Given the description of an element on the screen output the (x, y) to click on. 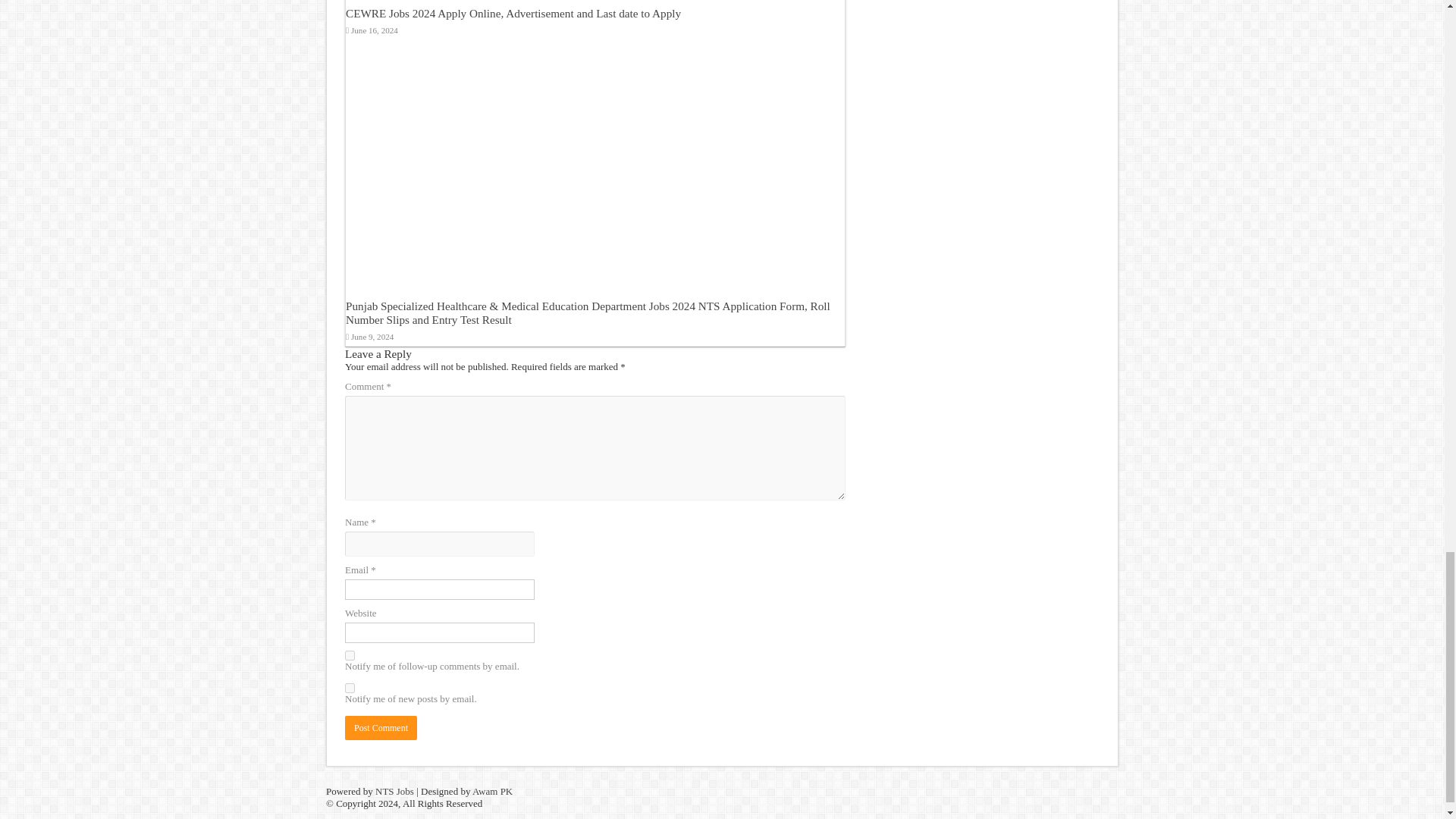
Post Comment (380, 727)
Post Comment (380, 727)
subscribe (350, 687)
subscribe (350, 655)
